Given the description of an element on the screen output the (x, y) to click on. 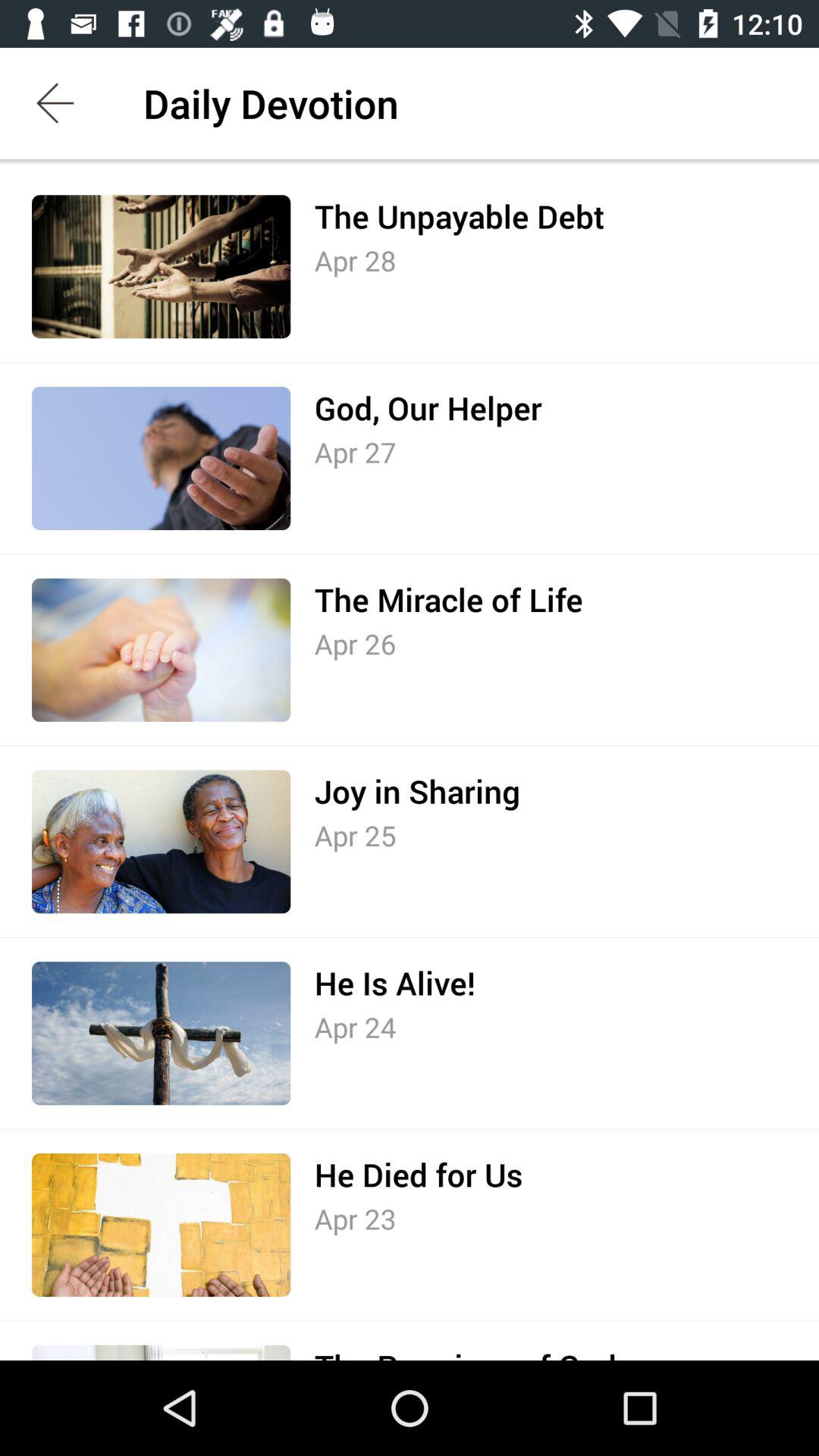
launch the apr 24 item (355, 1026)
